Given the description of an element on the screen output the (x, y) to click on. 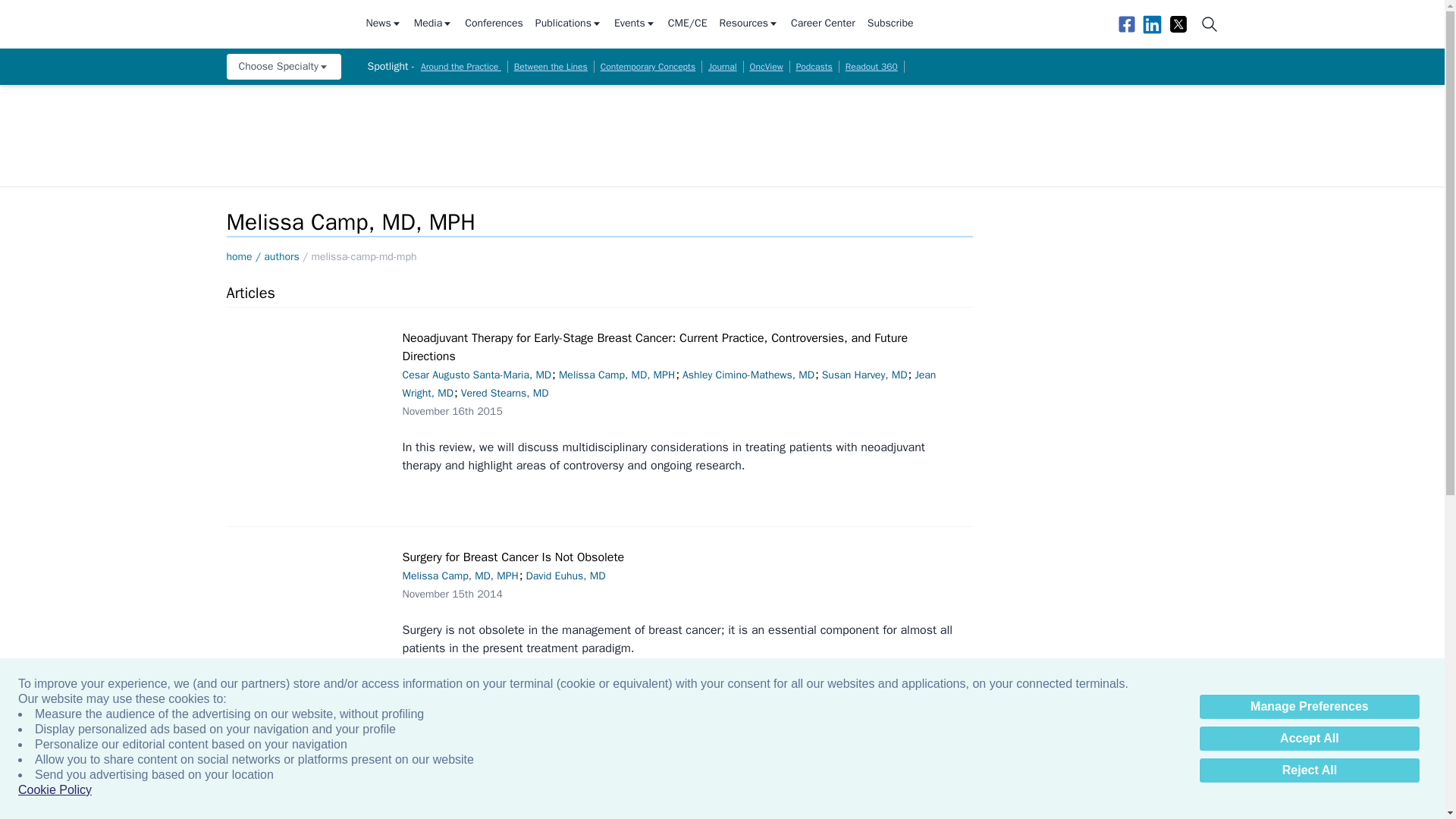
News (383, 23)
Cookie Policy (54, 789)
Events (635, 23)
Media (432, 23)
Reject All (1309, 769)
Manage Preferences (1309, 706)
Publications (568, 23)
Resources (748, 23)
